Given the description of an element on the screen output the (x, y) to click on. 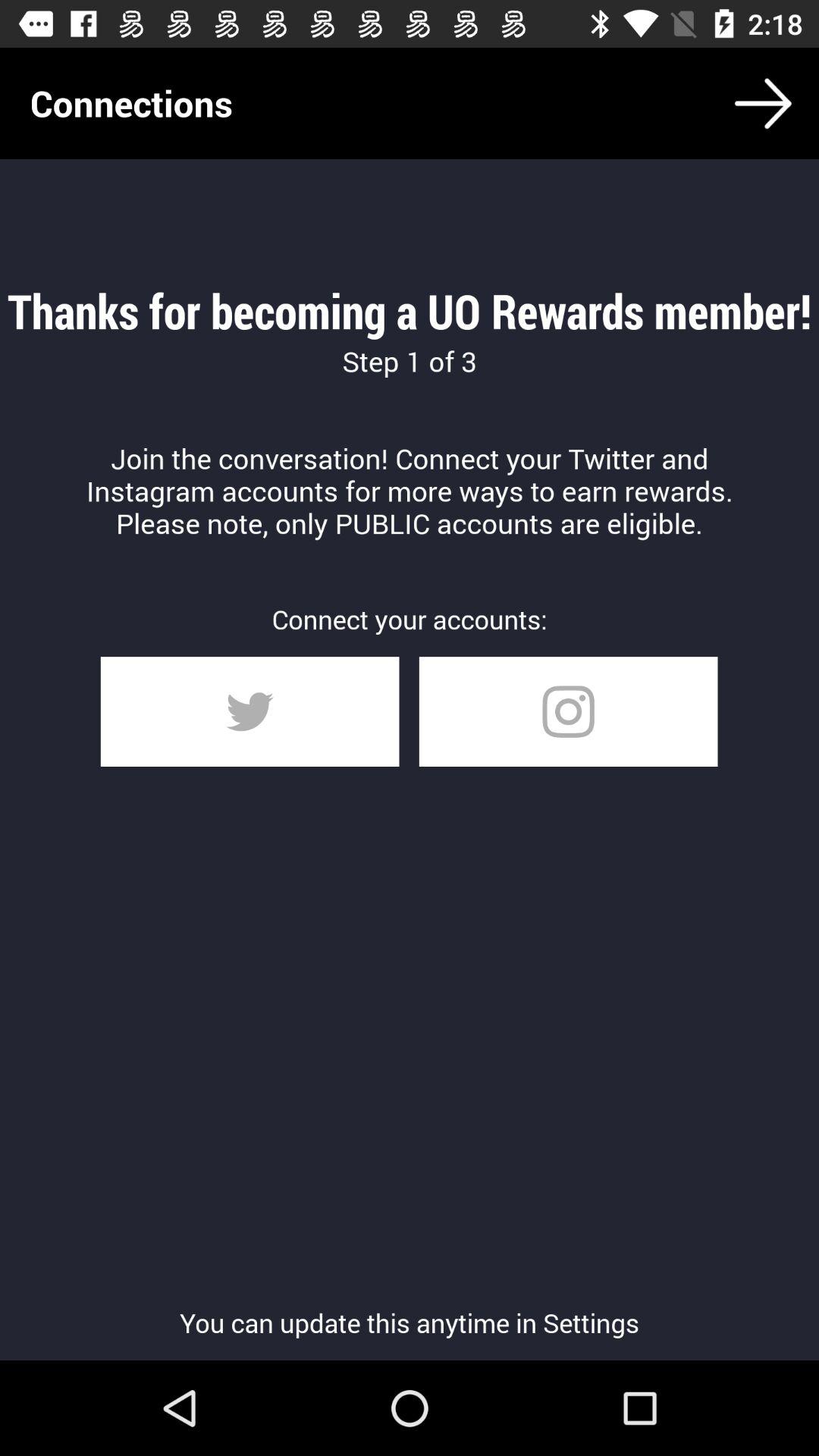
open the item at the top right corner (763, 103)
